Given the description of an element on the screen output the (x, y) to click on. 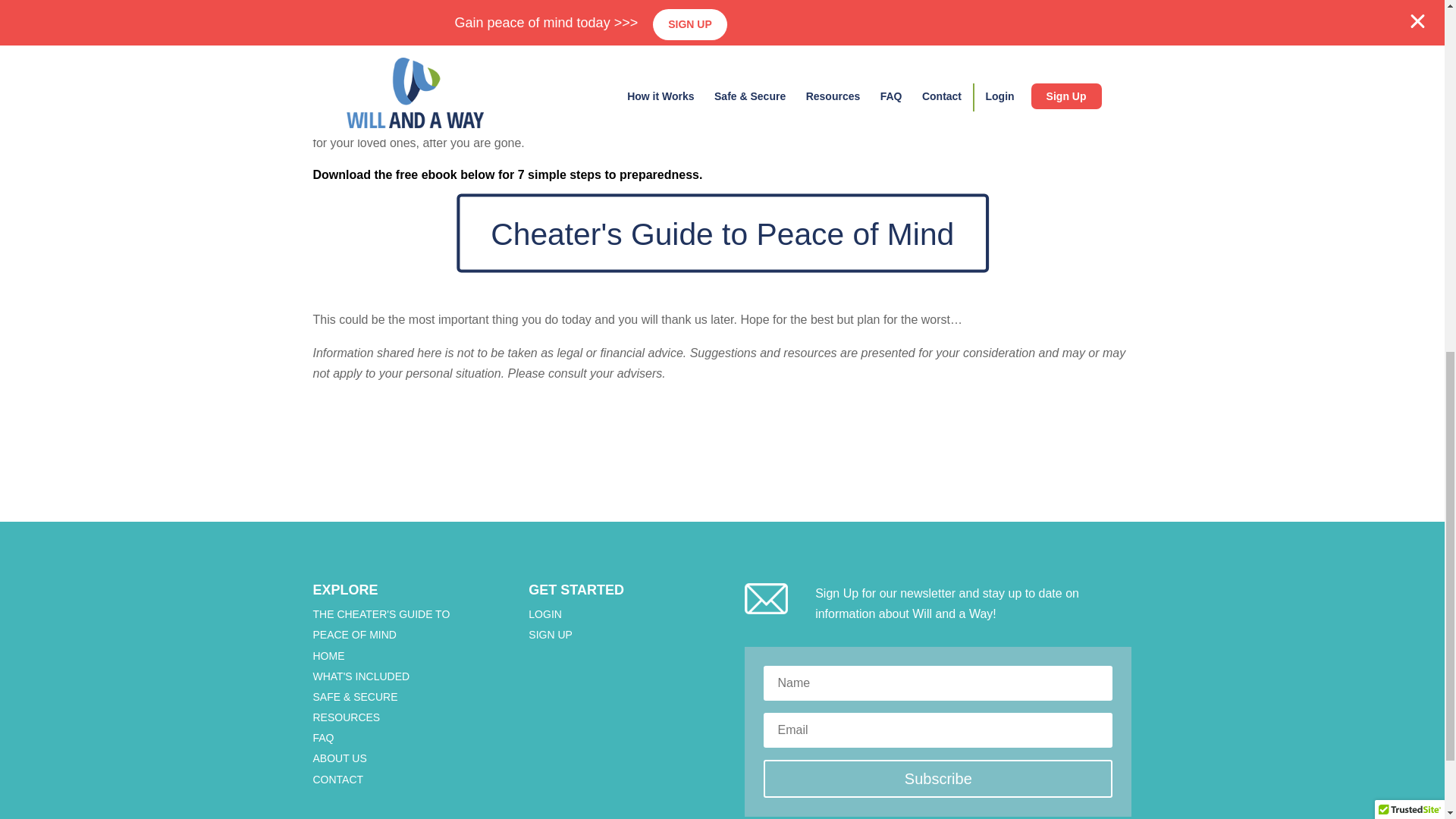
LOGIN (545, 613)
WHAT'S INCLUDED (361, 676)
Cheater's Guide to Peace of Mind (587, 212)
SIGN UP (550, 634)
Subscribe (937, 778)
HOME (328, 654)
CONTACT (337, 779)
ABOUT US (339, 758)
RESOURCES (346, 717)
FAQ (323, 737)
THE CHEATER'S GUIDE TO PEACE OF MIND (381, 624)
